Given the description of an element on the screen output the (x, y) to click on. 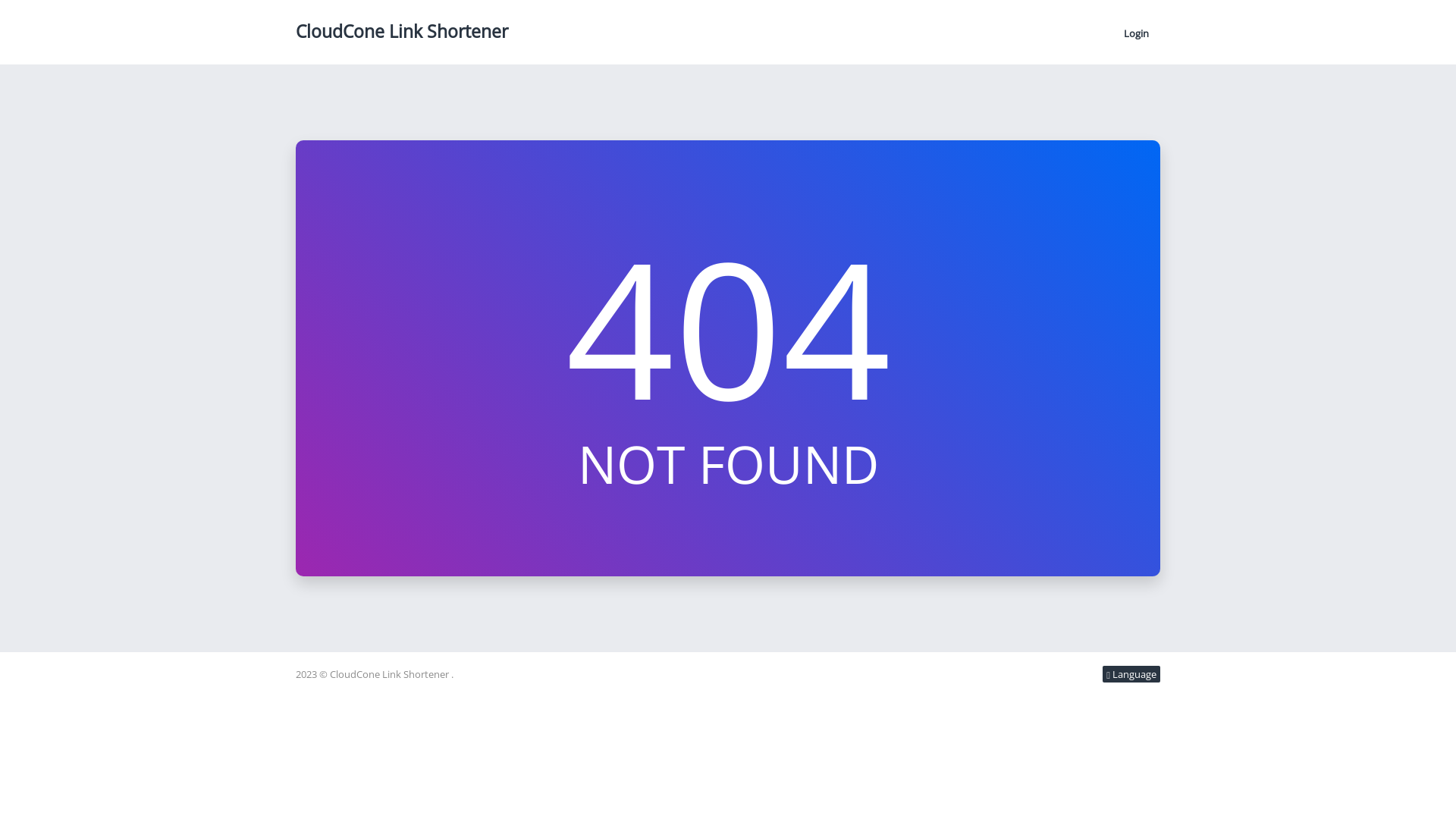
CloudCone Link Shortener Element type: text (401, 31)
Login Element type: text (1136, 33)
Language Element type: text (1131, 673)
